Given the description of an element on the screen output the (x, y) to click on. 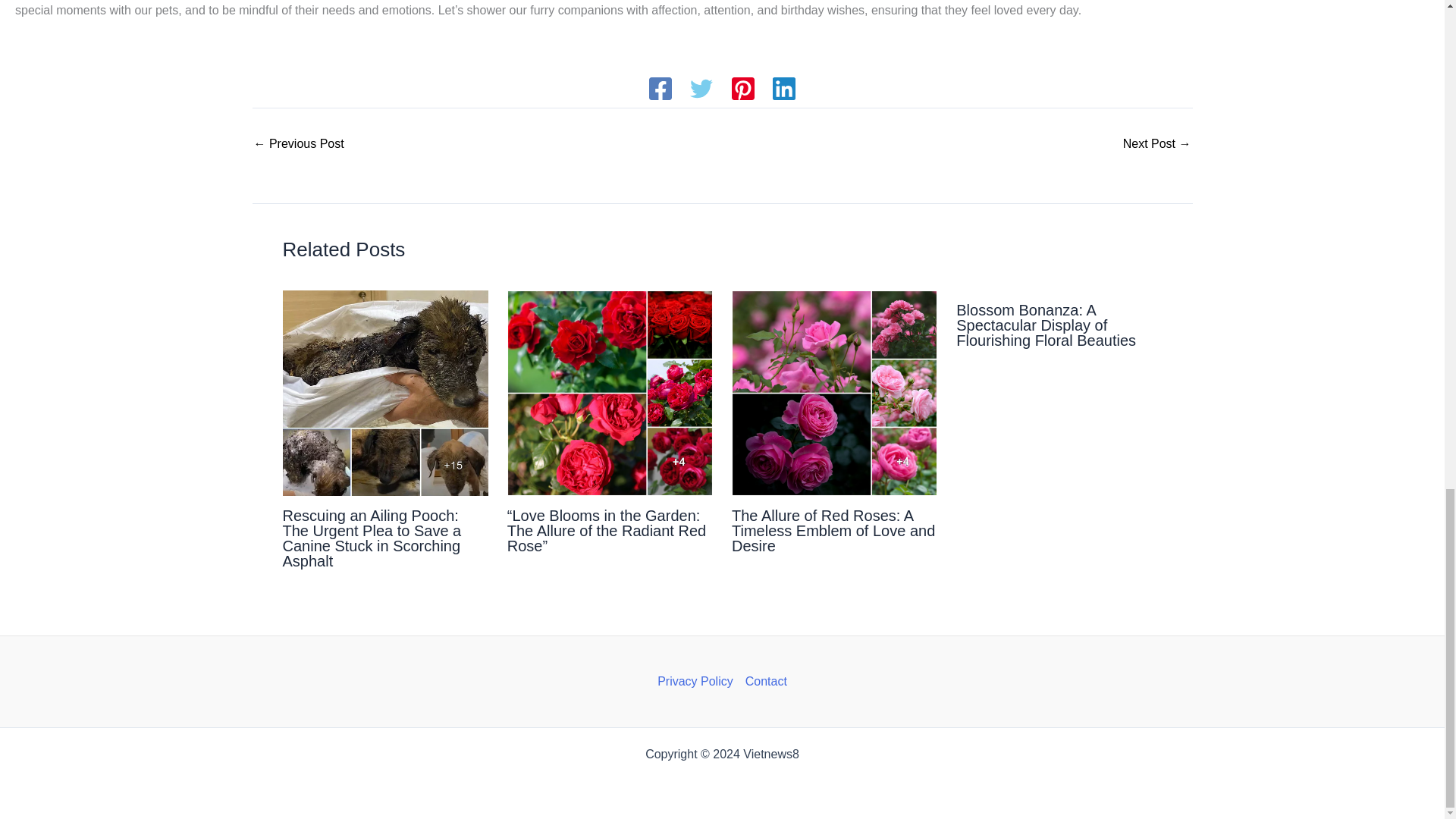
Privacy Policy (698, 681)
Contact (763, 681)
